Given the description of an element on the screen output the (x, y) to click on. 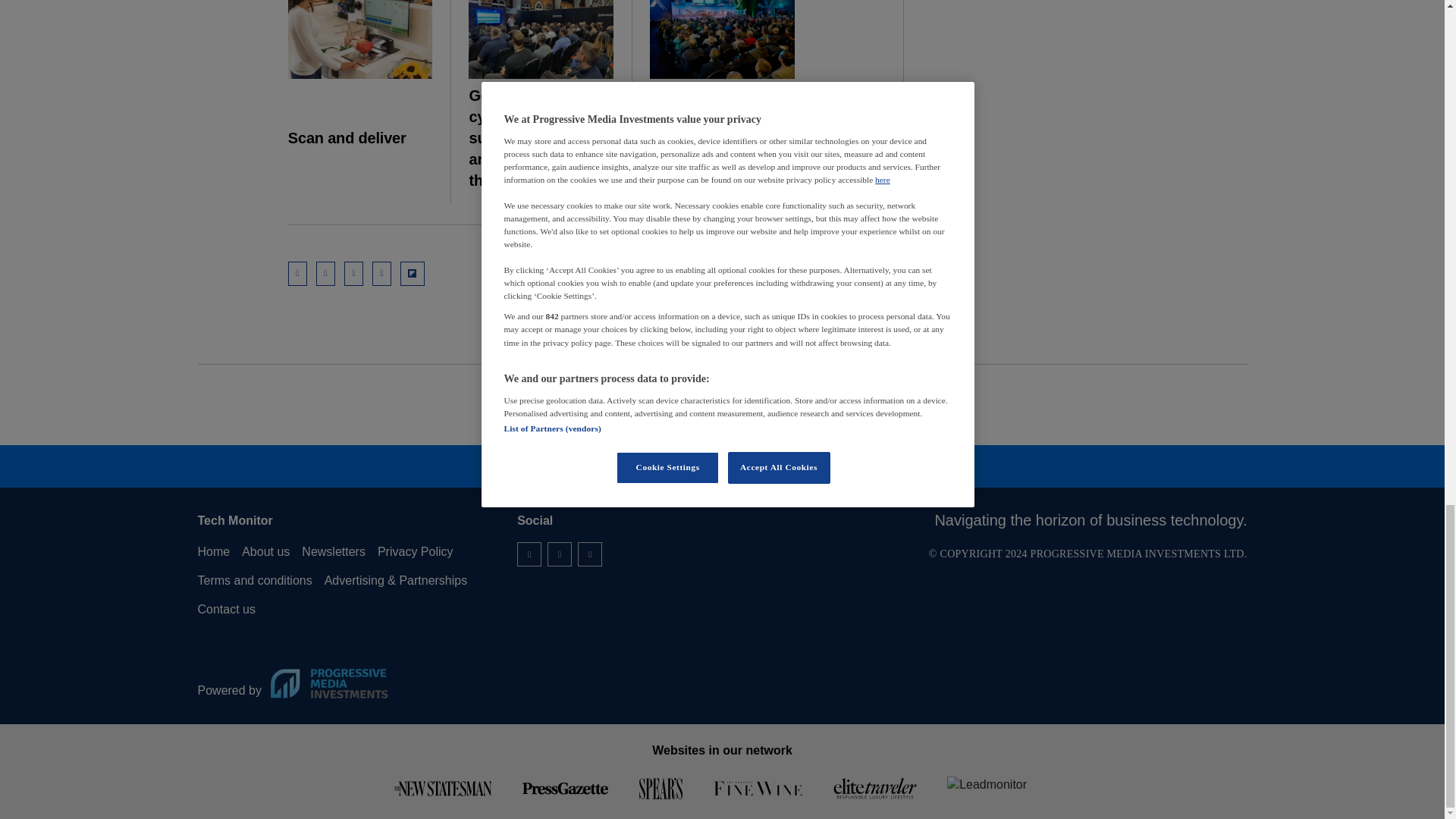
Share on Flipboard (412, 273)
Scan and deliver (360, 39)
